Given the description of an element on the screen output the (x, y) to click on. 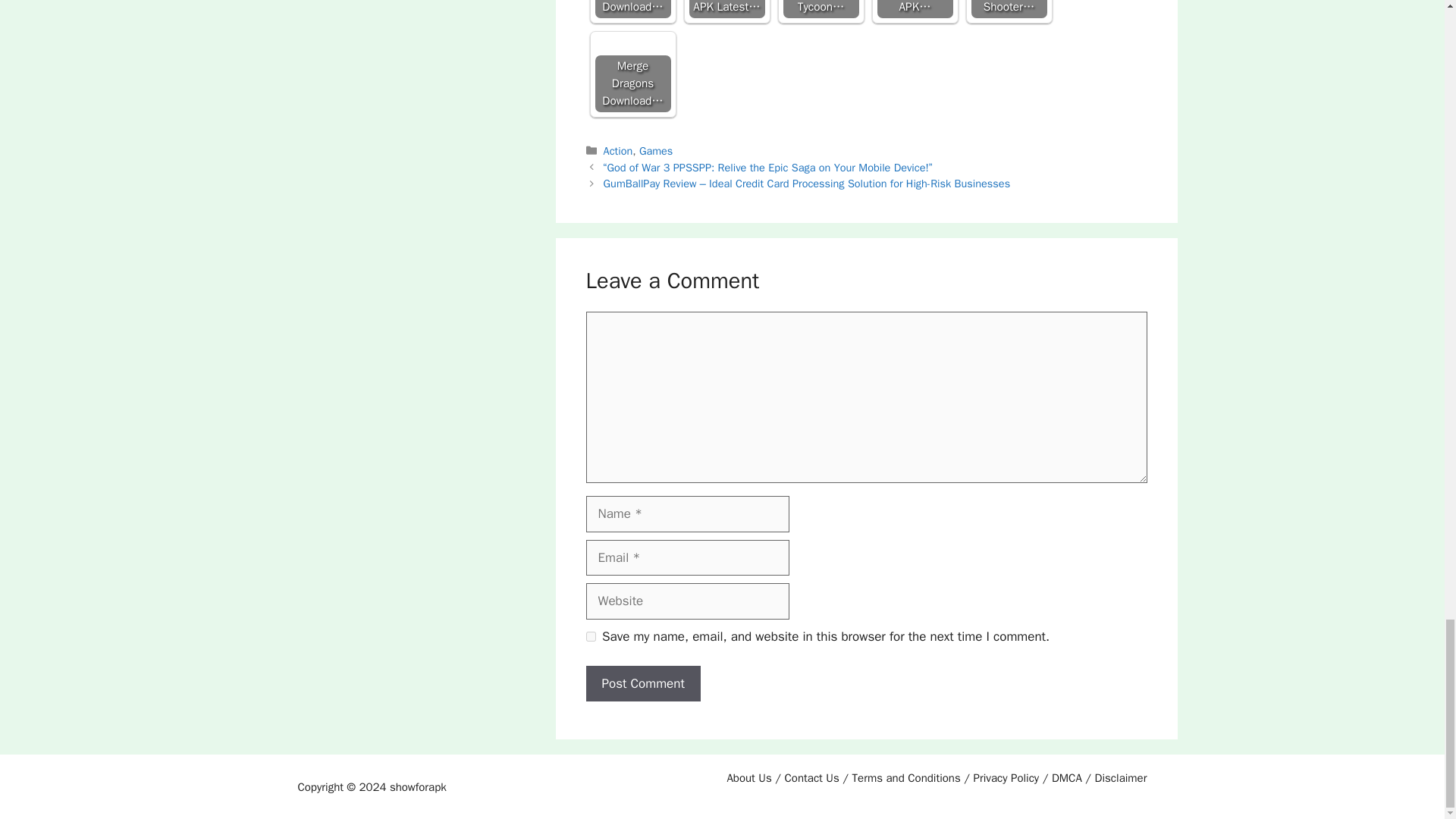
yes (590, 636)
Island War APK download for Android 4.6.3 Army Camp Levels (914, 9)
Evermerge: Download Evermerge Apk For Android 2023 (631, 9)
Hotel Empire Tycoon idle game manager simulator For Android (821, 9)
Merge Dragons Download Merge Dragons Android Apk 2023 (631, 74)
Post Comment (642, 683)
CarX Rally APK Latest v21101 Download For Android (726, 9)
